Given the description of an element on the screen output the (x, y) to click on. 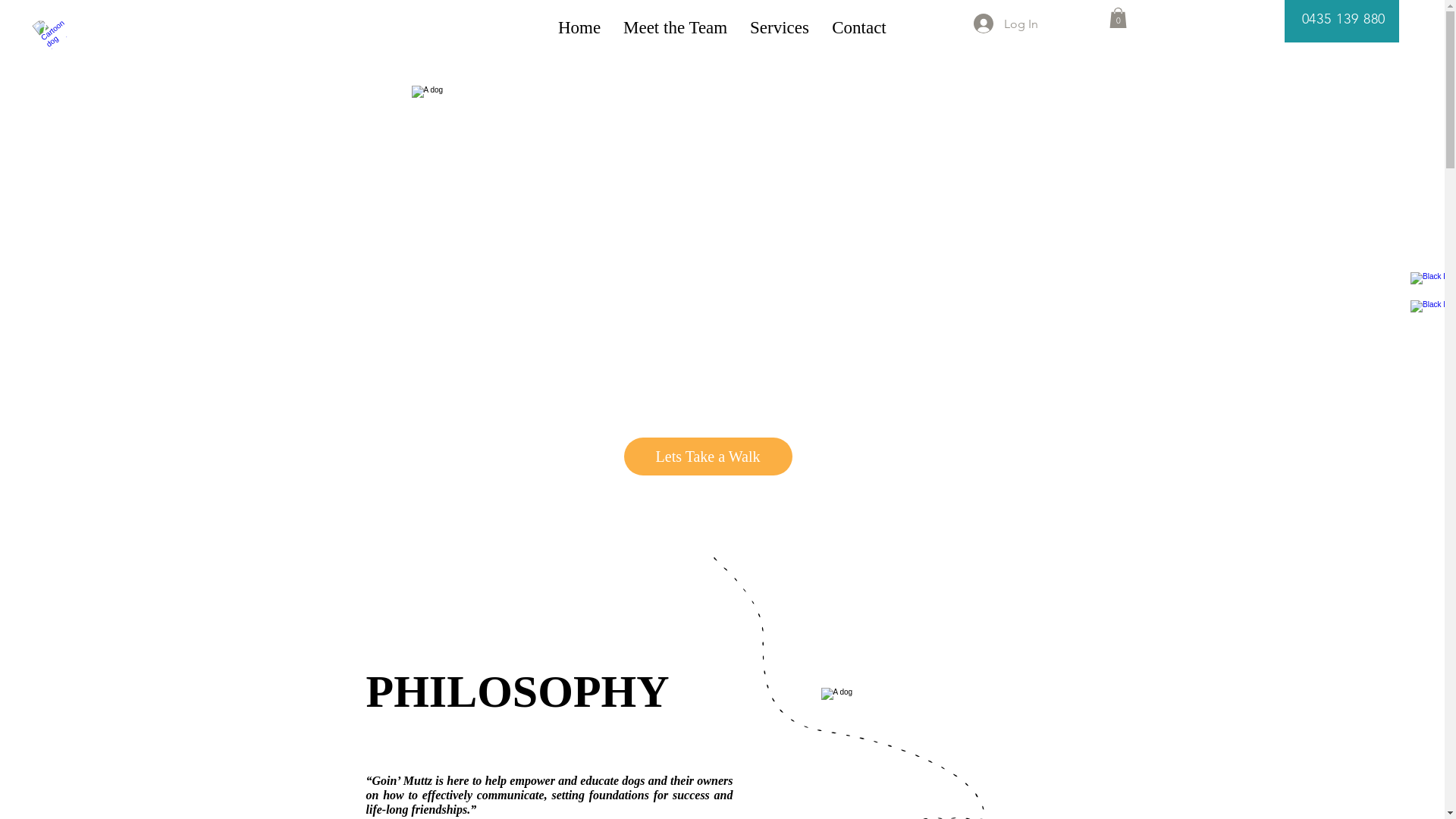
Contact Element type: text (858, 27)
0 Element type: text (1117, 17)
Log In Element type: text (1005, 23)
Home Element type: text (578, 27)
Services Element type: text (779, 27)
Lets Take a Walk Element type: text (707, 456)
Meet the Team Element type: text (674, 27)
